Given the description of an element on the screen output the (x, y) to click on. 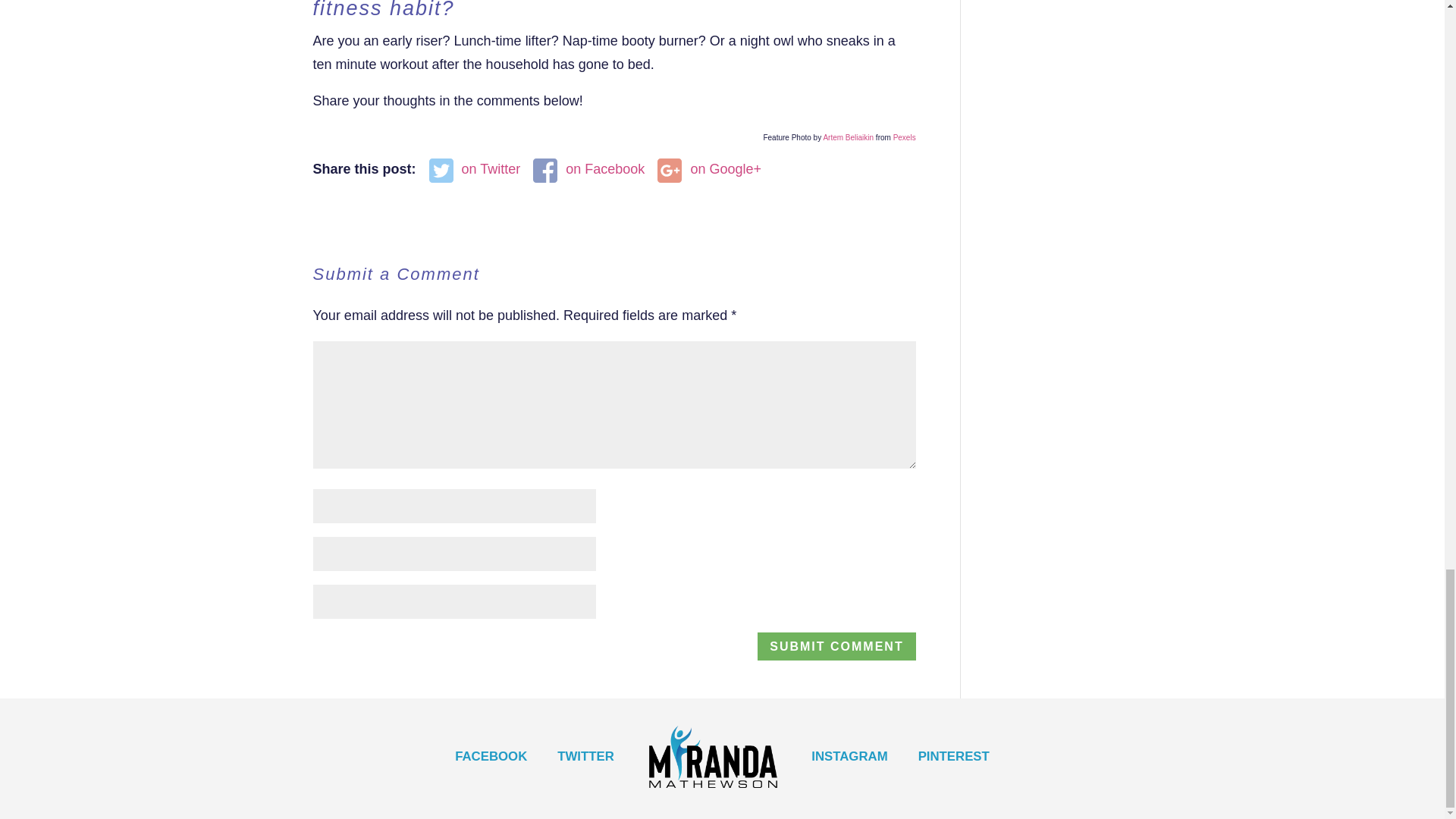
Submit Comment (836, 646)
Pexels (904, 137)
on Twitter (475, 169)
Artem Beliaikin (847, 137)
Submit Comment (836, 646)
on Facebook (588, 169)
